Given the description of an element on the screen output the (x, y) to click on. 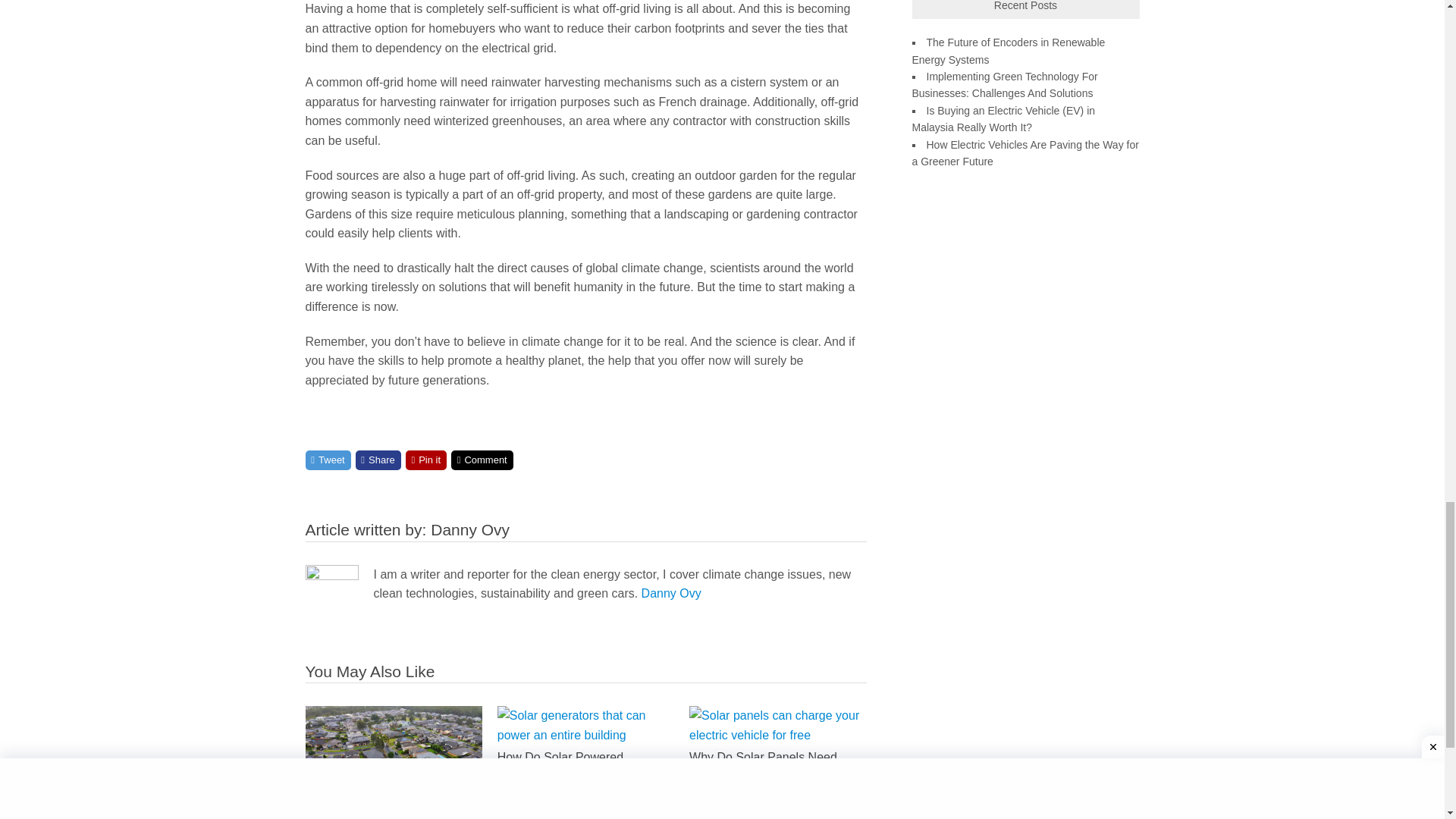
Share on Twitter (327, 460)
Comment (482, 460)
Pin it (426, 460)
How Do Solar Powered Generators Work? (585, 735)
Share on Facebook (378, 460)
Tweet (327, 460)
Comment (482, 460)
Share on Pinterest (426, 460)
Visit Author Page (469, 529)
Danny Ovy (469, 529)
